Given the description of an element on the screen output the (x, y) to click on. 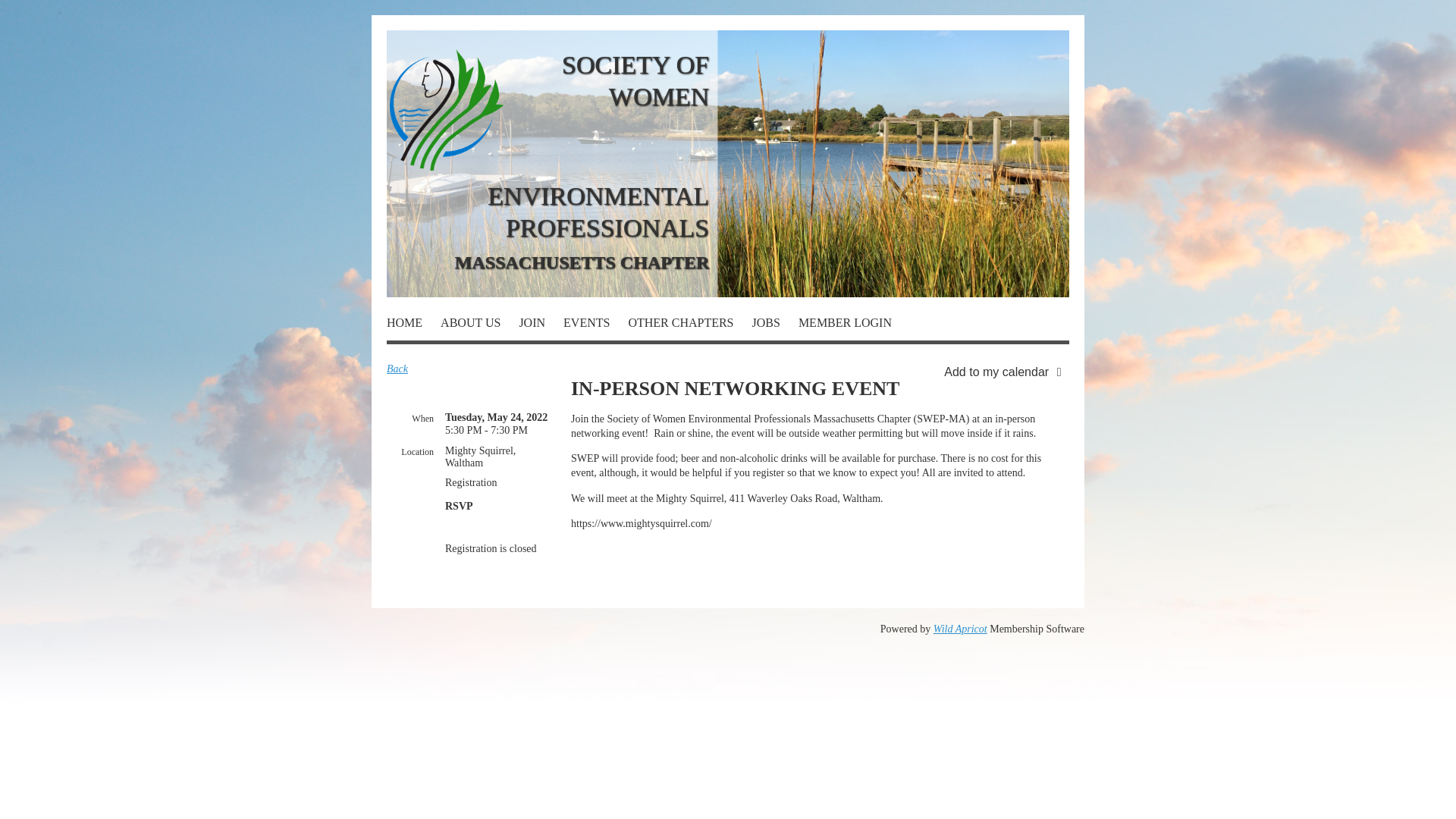
Member Login (844, 326)
JOIN (540, 326)
Back (397, 368)
Events (595, 326)
Wild Apricot (960, 628)
Jobs (774, 326)
MEMBER LOGIN (844, 326)
HOME (414, 326)
OTHER CHAPTERS (689, 326)
Other Chapters (689, 326)
ABOUT US (479, 326)
EVENTS (595, 326)
JOBS (774, 326)
Join (540, 326)
Home (414, 326)
